Given the description of an element on the screen output the (x, y) to click on. 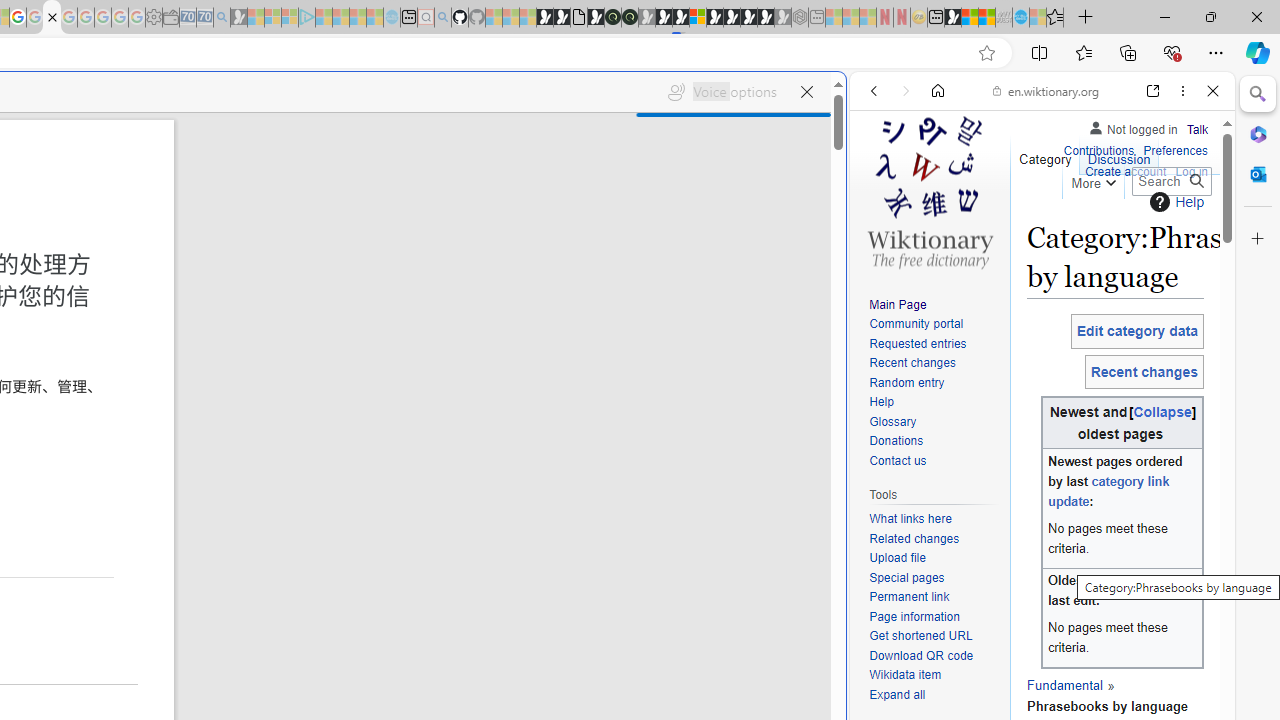
Expand all (934, 695)
Category (1045, 154)
Donations (934, 442)
Main Page (934, 305)
Upload file (897, 557)
Edit category data (1137, 331)
Random entry (934, 382)
Glossary (892, 421)
